Given the description of an element on the screen output the (x, y) to click on. 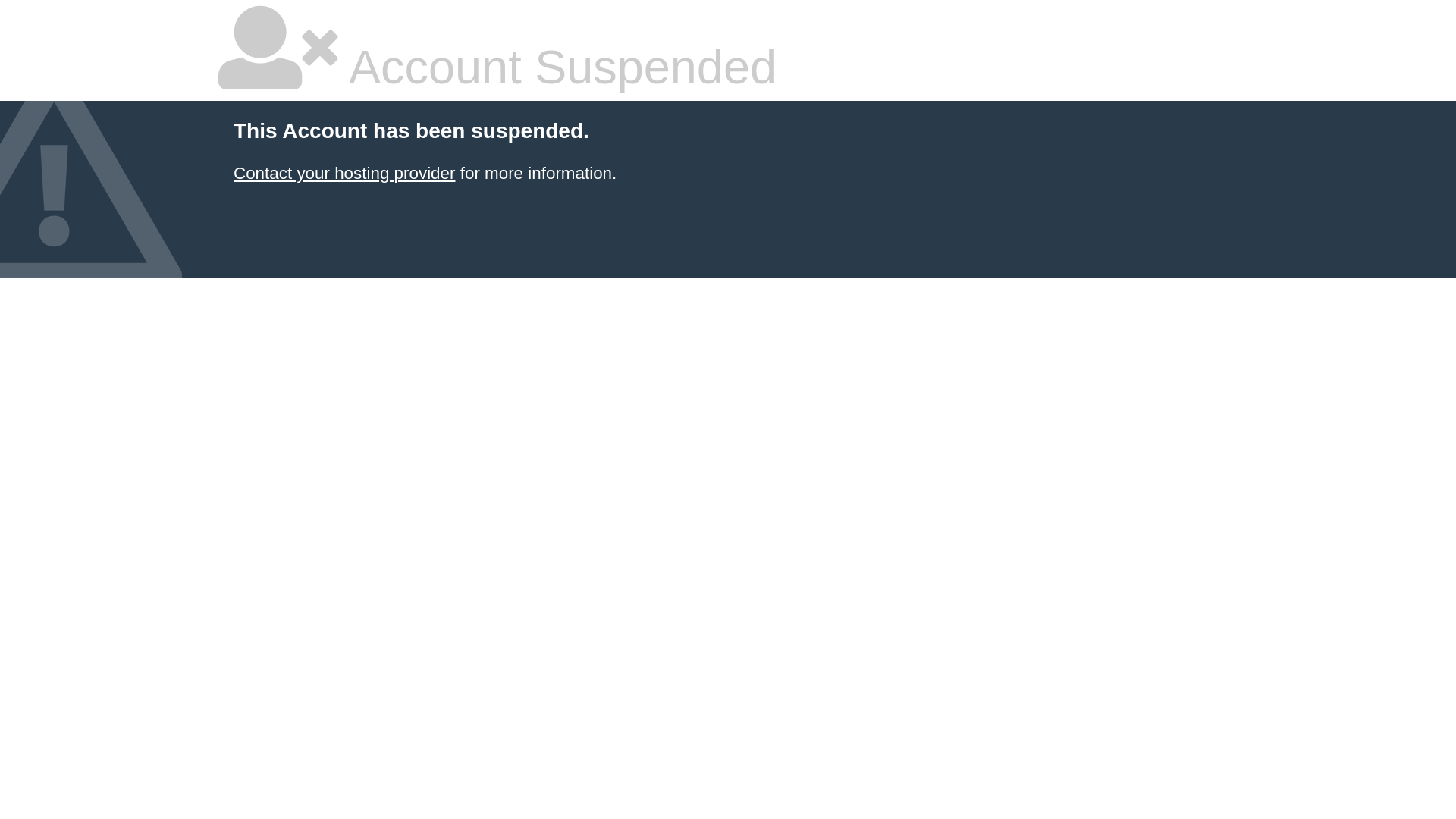
Contact your hosting provider Element type: text (344, 172)
